Given the description of an element on the screen output the (x, y) to click on. 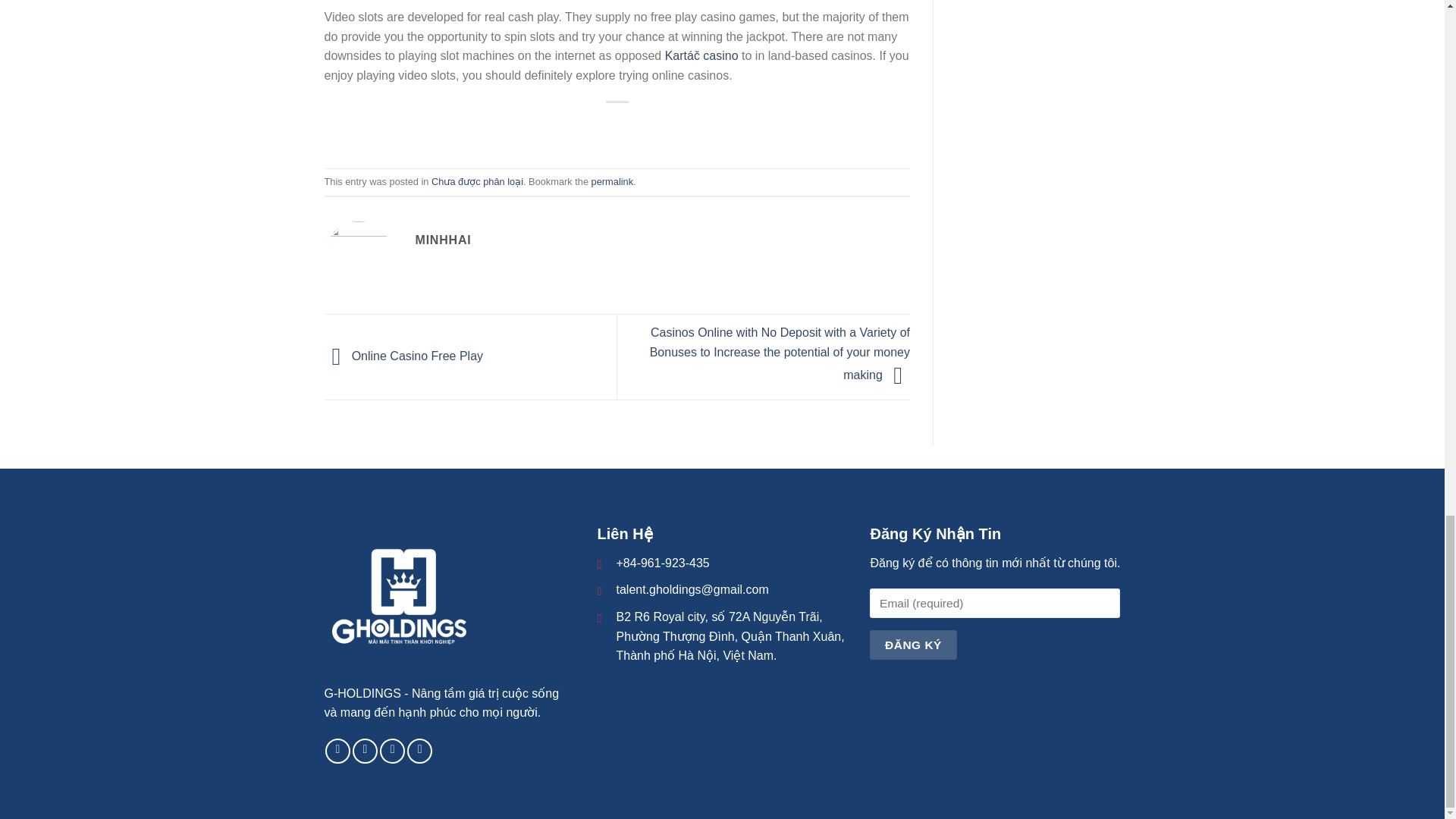
permalink (612, 181)
Online Casino Free Play (403, 355)
Permalink to Free Demo Slot Games (612, 181)
